Given the description of an element on the screen output the (x, y) to click on. 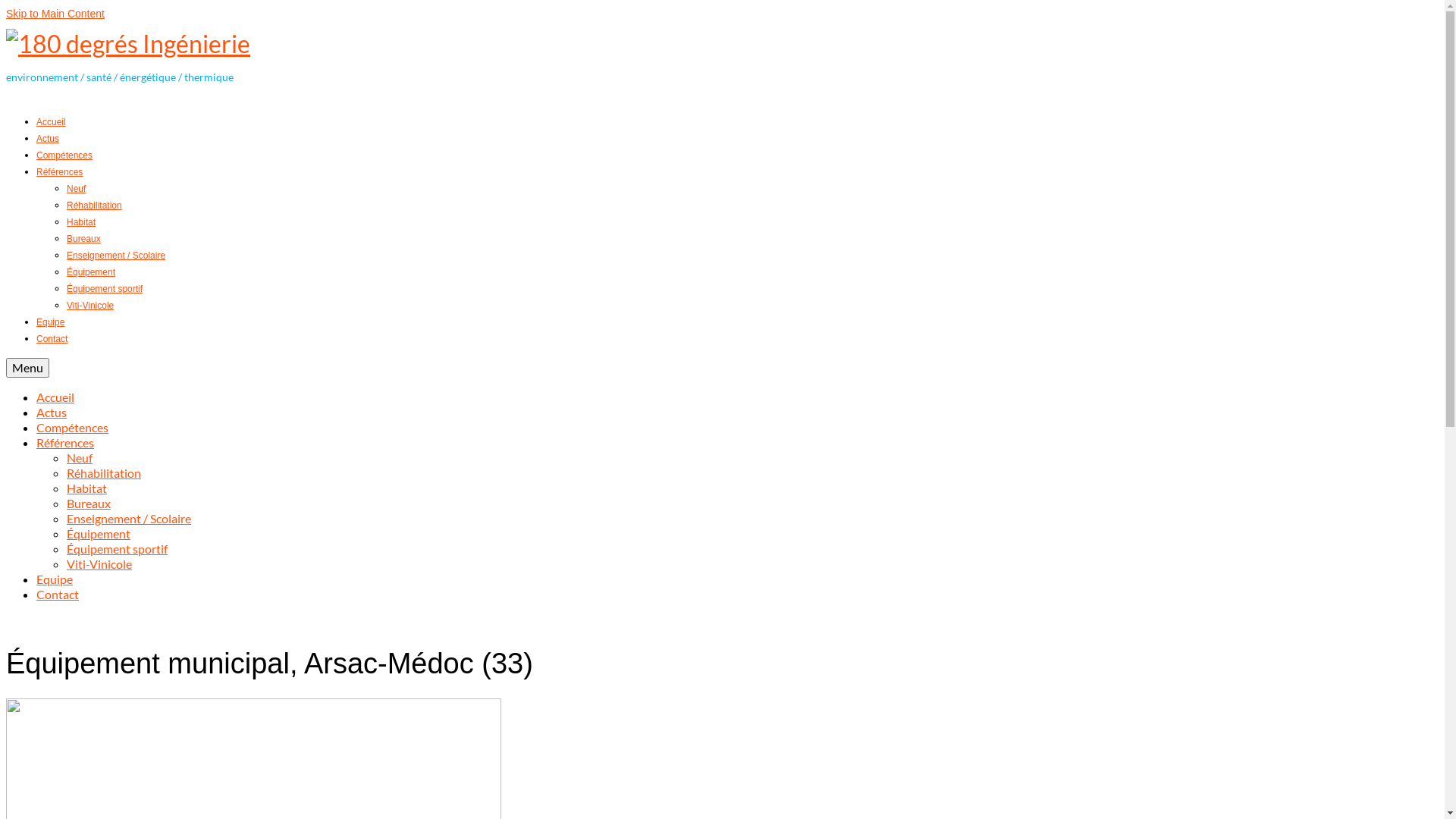
Skip to Main Content Element type: text (55, 13)
Contact Element type: text (51, 338)
Neuf Element type: text (75, 188)
Enseignement / Scolaire Element type: text (115, 255)
Habitat Element type: text (80, 221)
Viti-Vinicole Element type: text (89, 305)
Actus Element type: text (51, 411)
Accueil Element type: text (55, 396)
Habitat Element type: text (86, 487)
Contact Element type: text (57, 593)
Equipe Element type: text (50, 321)
Actus Element type: text (47, 138)
Bureaux Element type: text (88, 502)
Enseignement / Scolaire Element type: text (128, 518)
Viti-Vinicole Element type: text (98, 563)
Bureaux Element type: text (83, 238)
Neuf Element type: text (79, 457)
Accueil Element type: text (50, 121)
Menu Element type: text (27, 367)
Equipe Element type: text (54, 578)
